Given the description of an element on the screen output the (x, y) to click on. 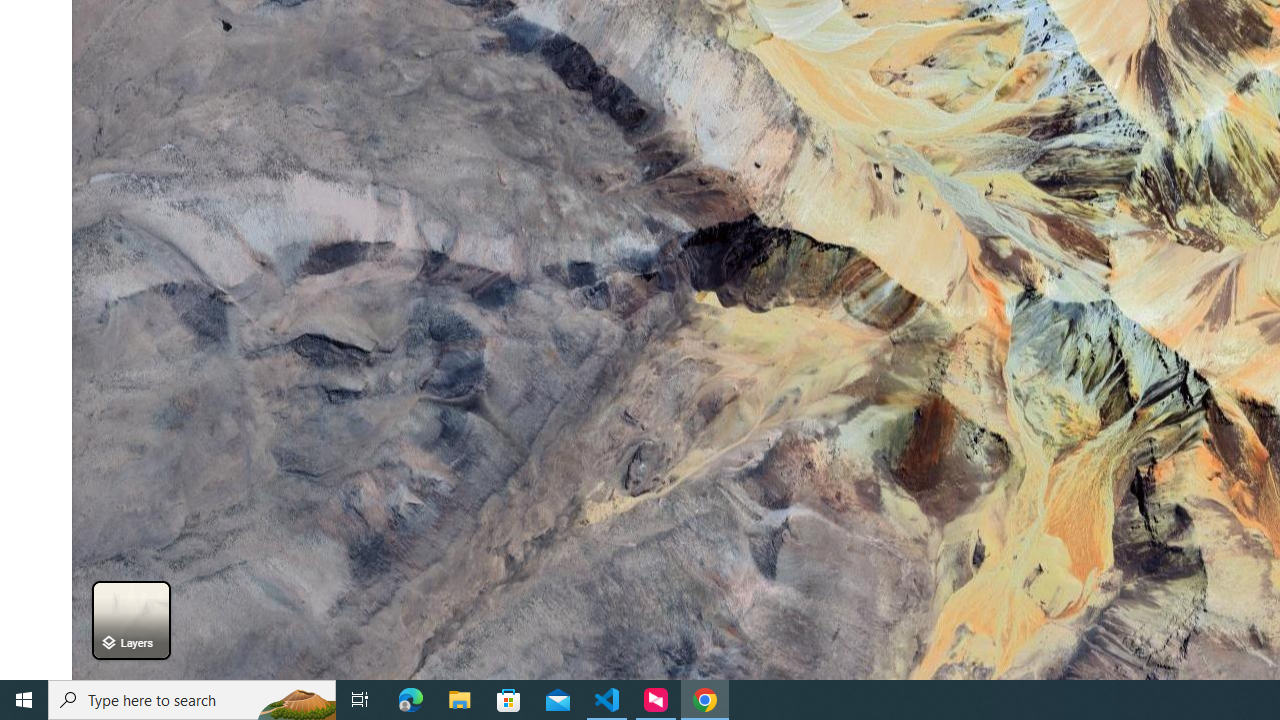
Layers (130, 620)
